Given the description of an element on the screen output the (x, y) to click on. 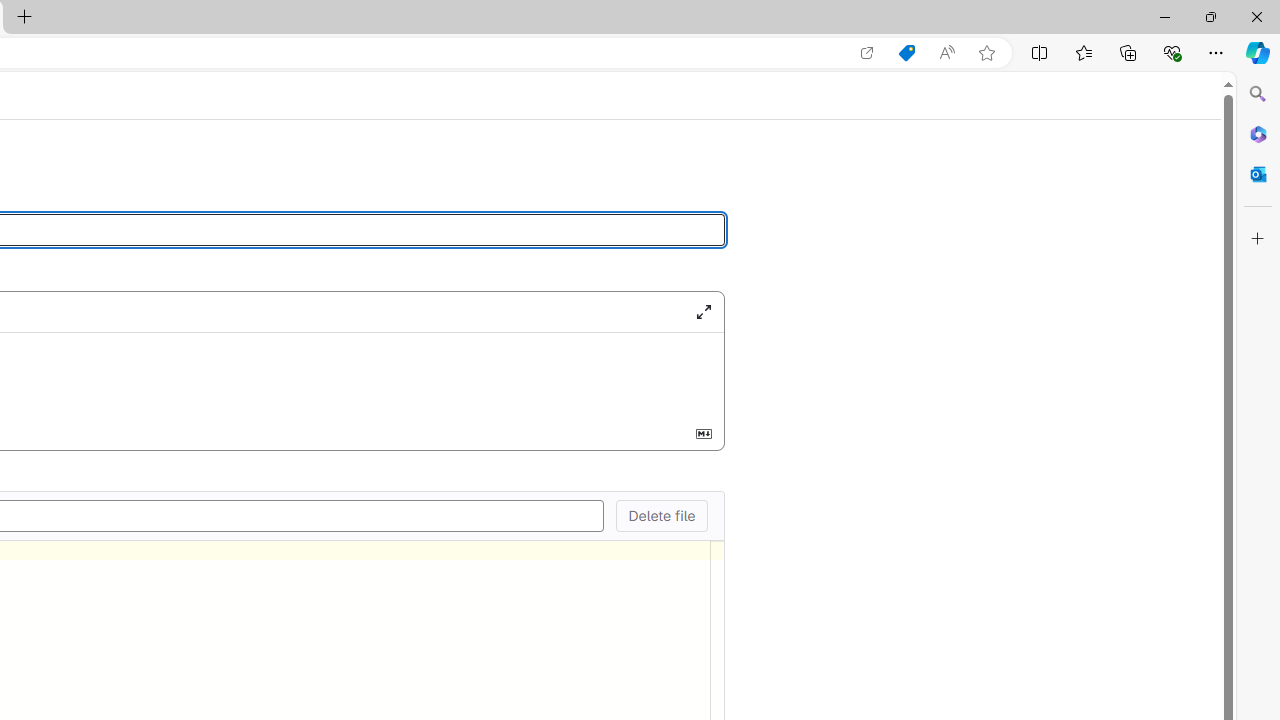
Open in app (867, 53)
Close Outlook pane (1258, 174)
Shopping in Microsoft Edge (906, 53)
Class: div-dropzone-icon s24 (97, 376)
